Given the description of an element on the screen output the (x, y) to click on. 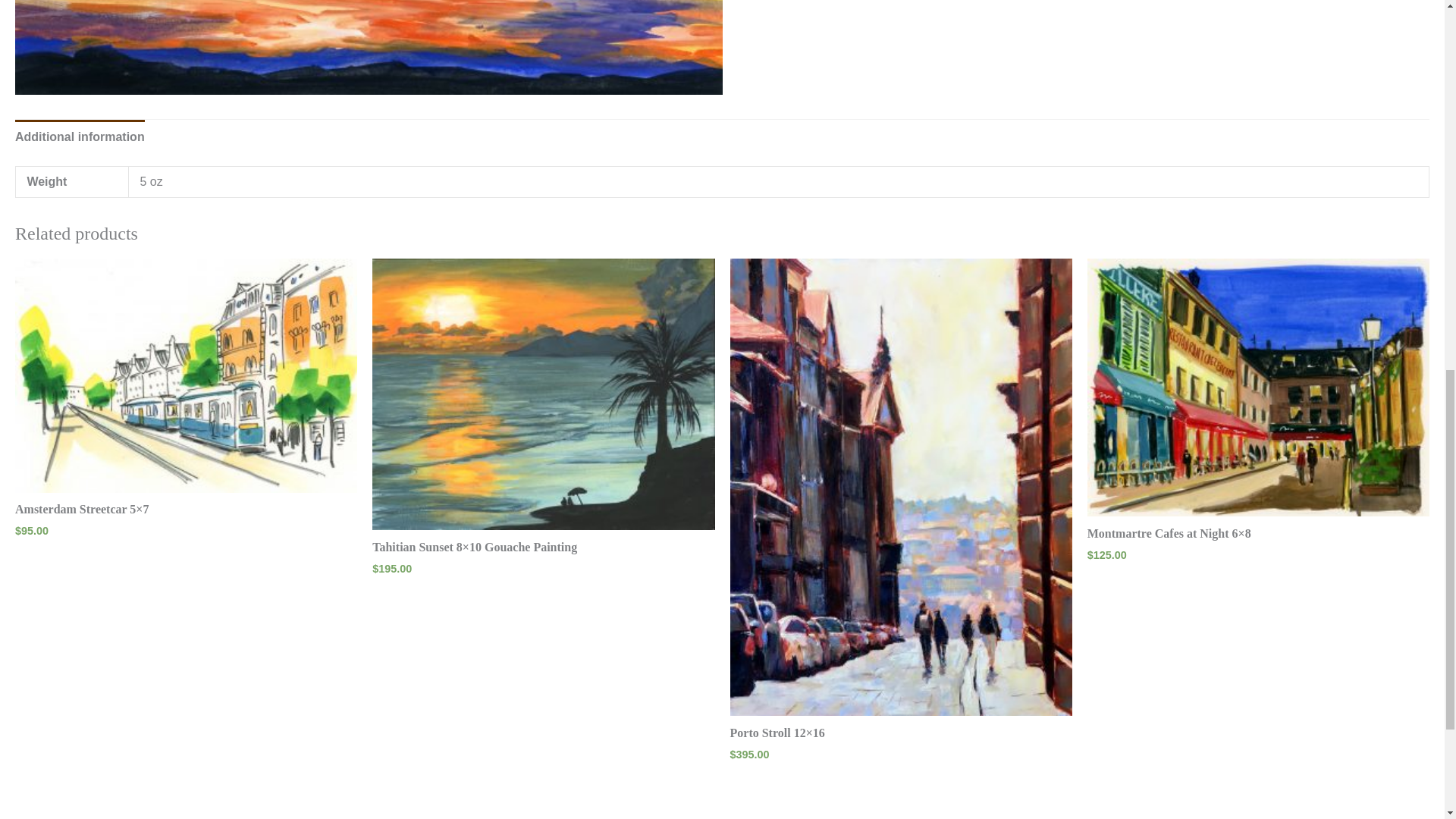
taos sunset (368, 47)
Additional information (79, 136)
